Given the description of an element on the screen output the (x, y) to click on. 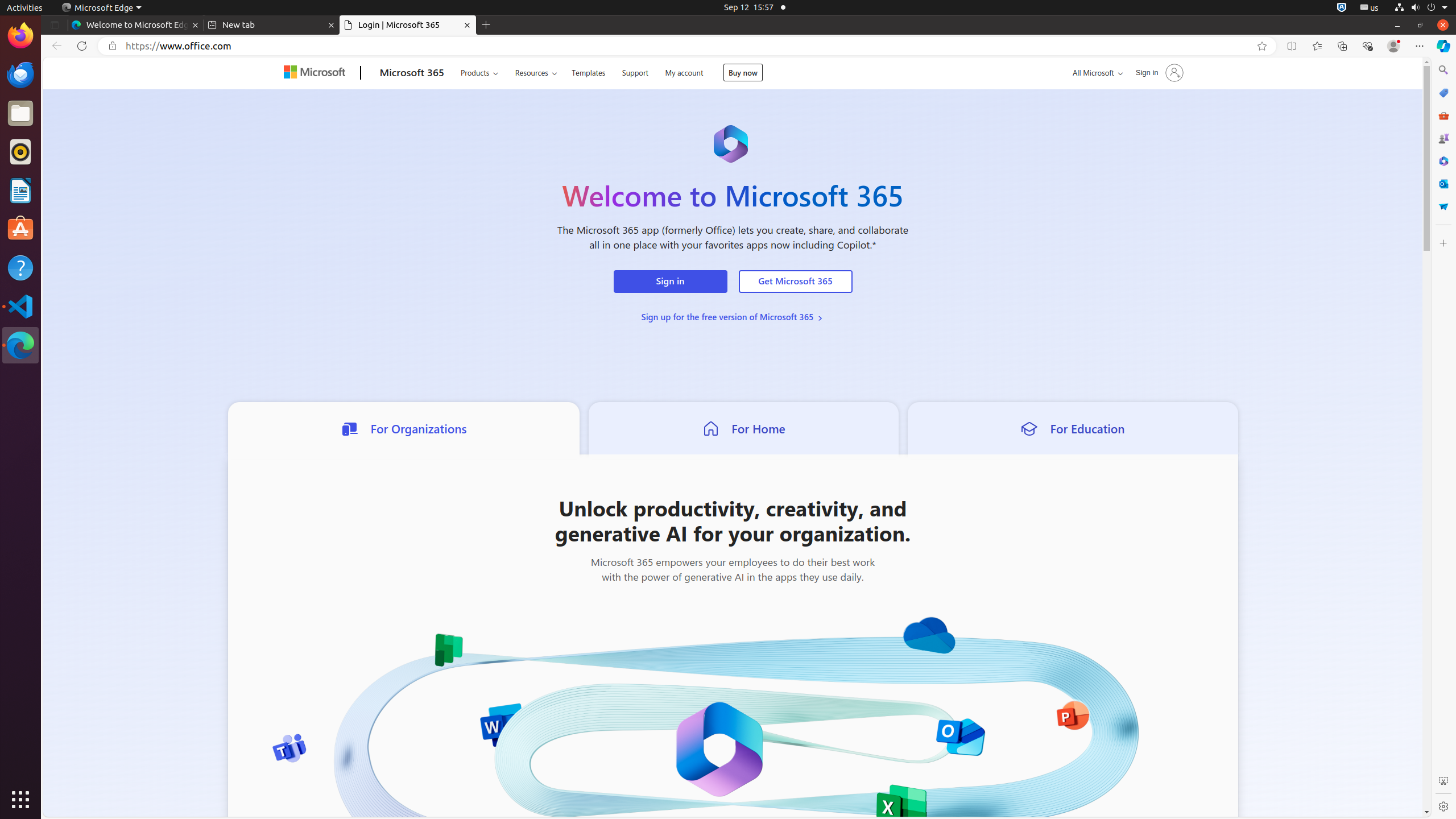
Back Element type: push-button (54, 45)
Thunderbird Mail Element type: push-button (20, 74)
Microsoft 365 Element type: link (411, 73)
My account Element type: link (683, 71)
Visual Studio Code Element type: push-button (20, 306)
